Given the description of an element on the screen output the (x, y) to click on. 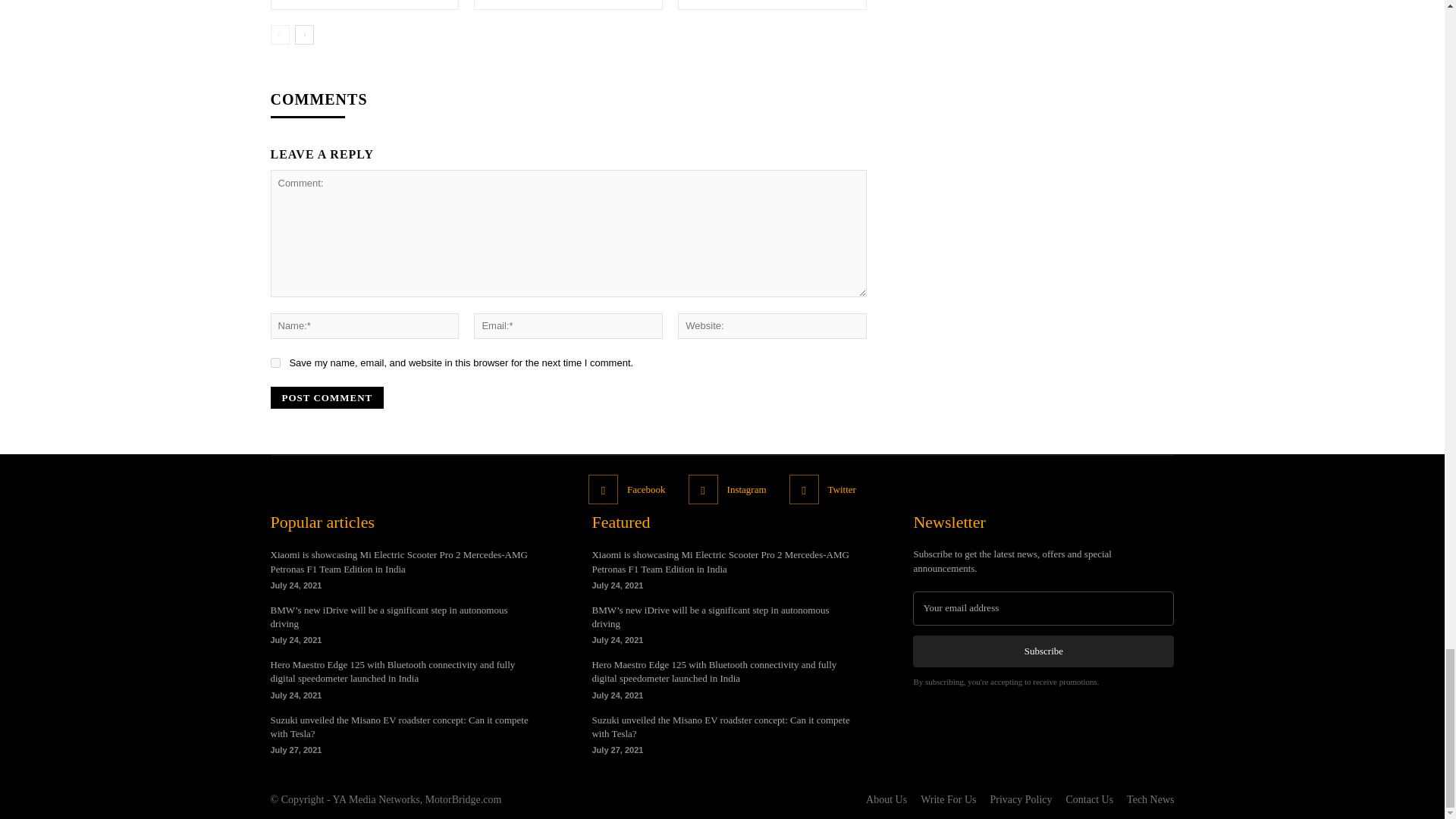
yes (274, 362)
Post Comment (326, 397)
